Given the description of an element on the screen output the (x, y) to click on. 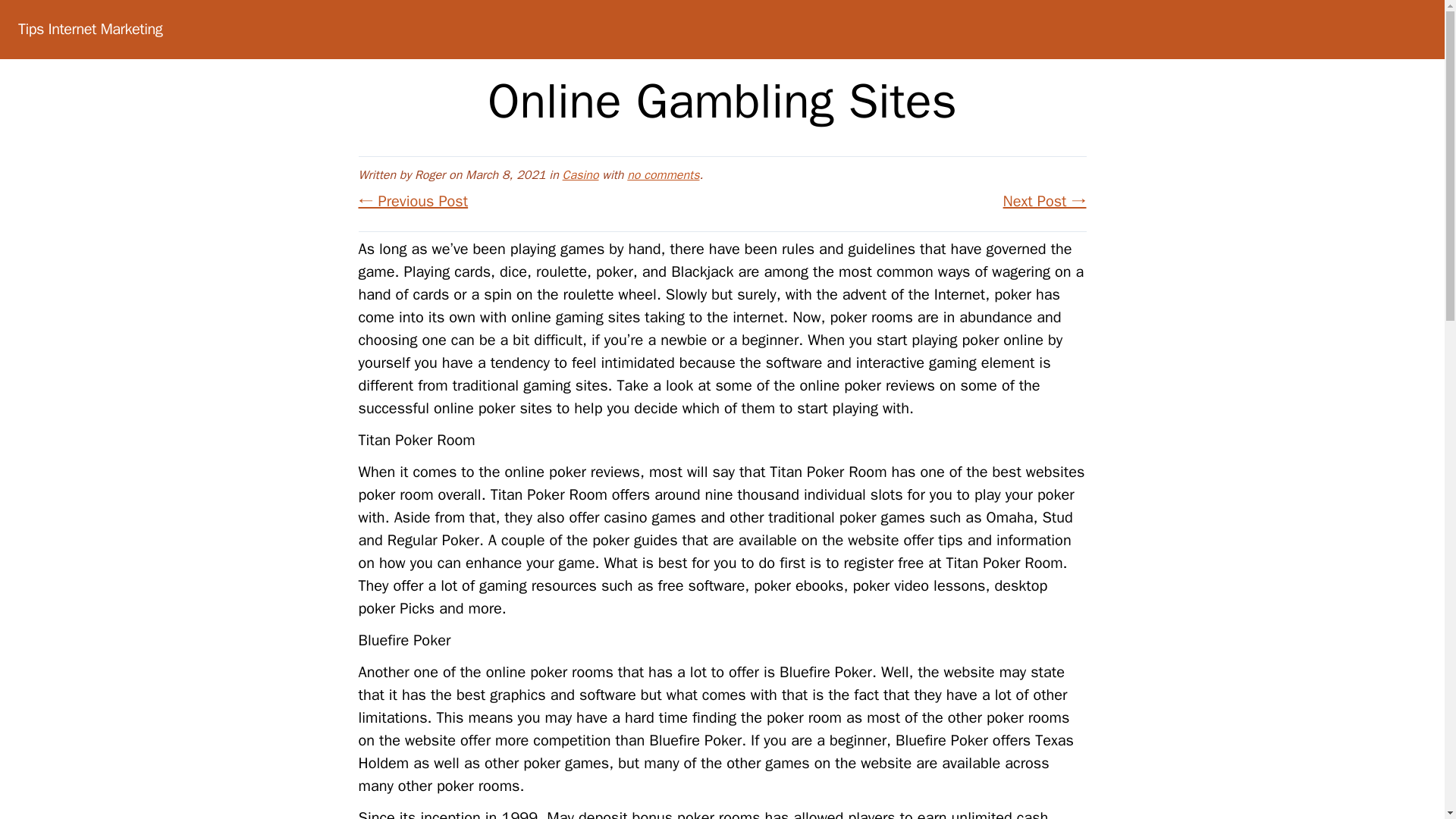
no comments (662, 174)
Casino (580, 174)
Tips Internet Marketing (89, 29)
no comments (662, 174)
